Given the description of an element on the screen output the (x, y) to click on. 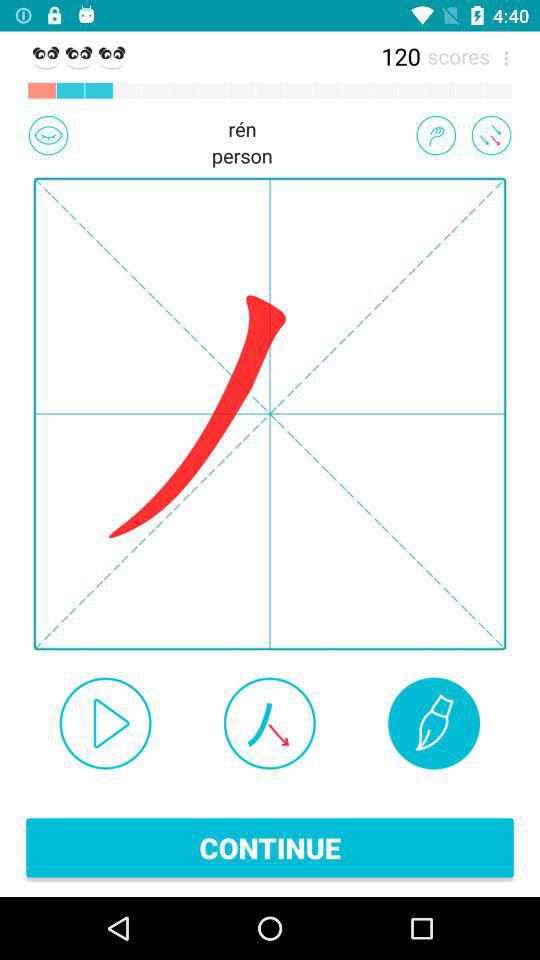
paintbrush tool (434, 723)
